Given the description of an element on the screen output the (x, y) to click on. 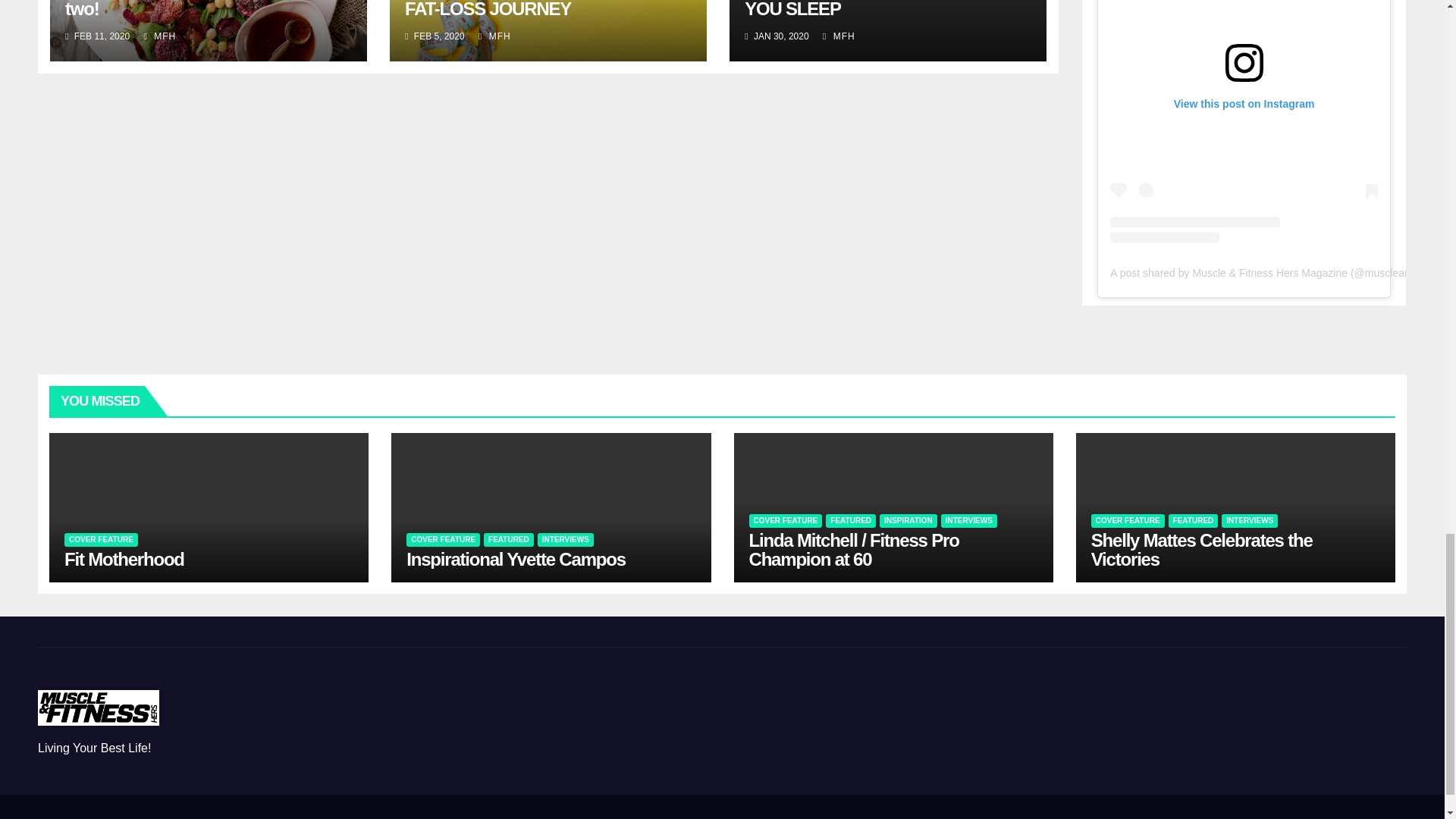
Permalink to: Inspirational Yvette Campos (516, 558)
Permalink to: 7 THINGS TO EXPECT ON YOUR FAT-LOSS JOURNEY (533, 9)
Permalink to: 11 TIPS TO GET STRONGER WHILE YOU SLEEP (885, 9)
Nutrition (969, 816)
Weight Loss (1042, 816)
Permalink to: Shelly Mattes Celebrates the Victories (1201, 549)
Permalink to: Fit Motherhood (124, 558)
